Given the description of an element on the screen output the (x, y) to click on. 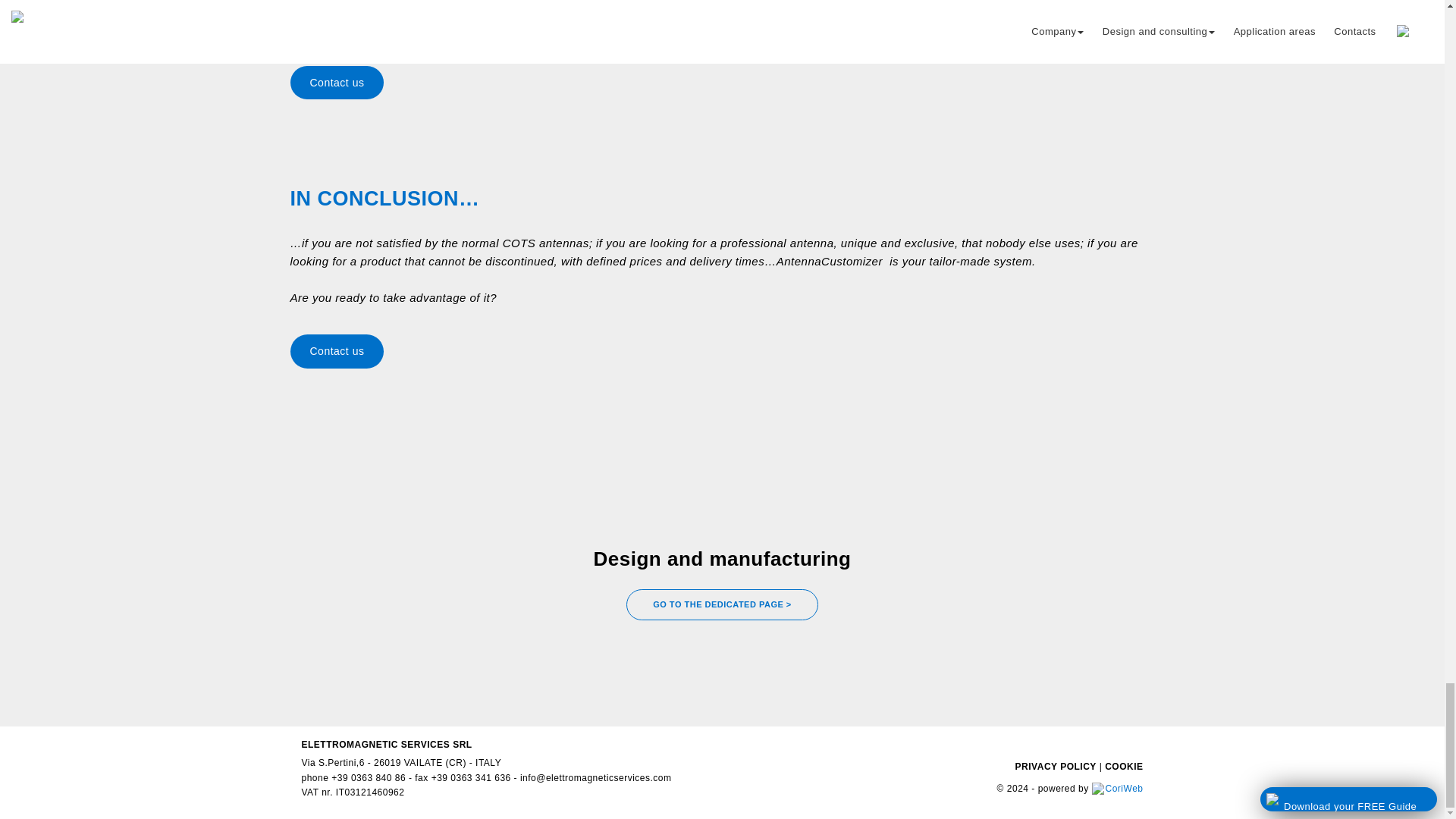
PRIVACY POLICY (1055, 766)
Contact us (721, 350)
Contact us (721, 82)
CoriWeb (1117, 787)
COOKIE (1123, 766)
